Given the description of an element on the screen output the (x, y) to click on. 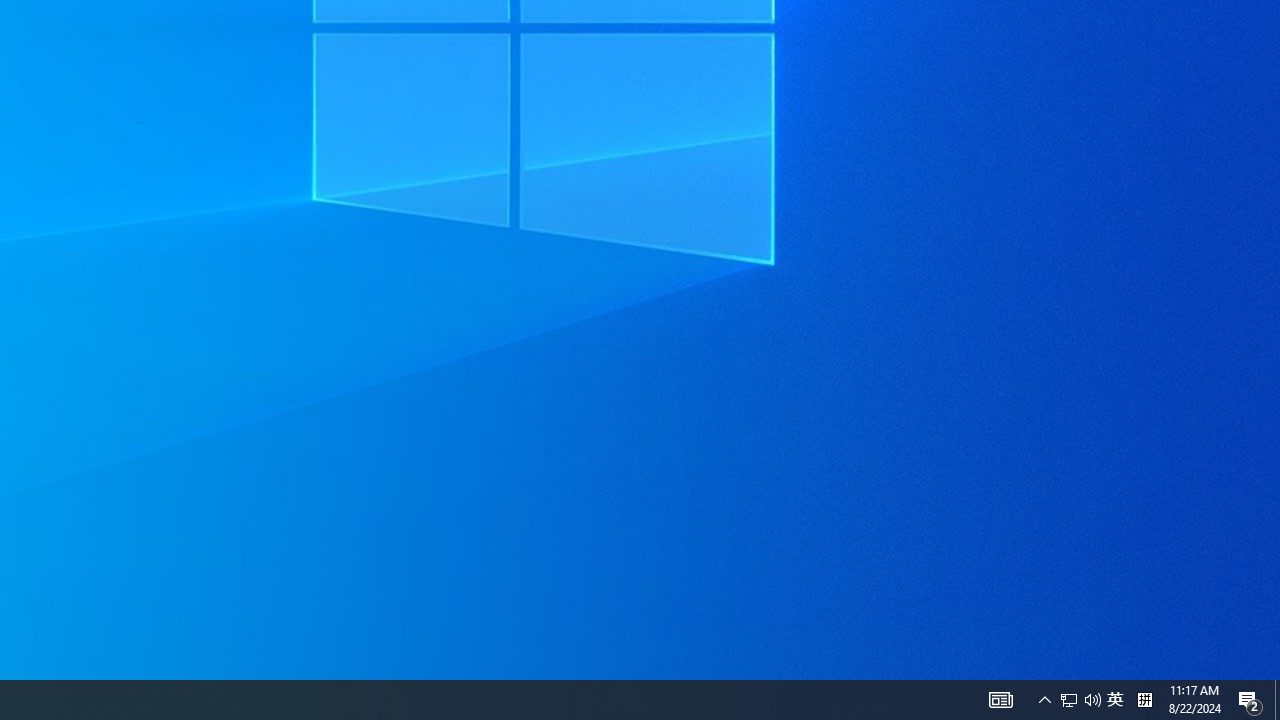
Notification Chevron (1044, 699)
Action Center, 2 new notifications (1250, 699)
AutomationID: 4105 (1000, 699)
User Promoted Notification Area (1080, 699)
Tray Input Indicator - Chinese (Simplified, China) (1144, 699)
Q2790: 100% (1092, 699)
Show desktop (1115, 699)
